Given the description of an element on the screen output the (x, y) to click on. 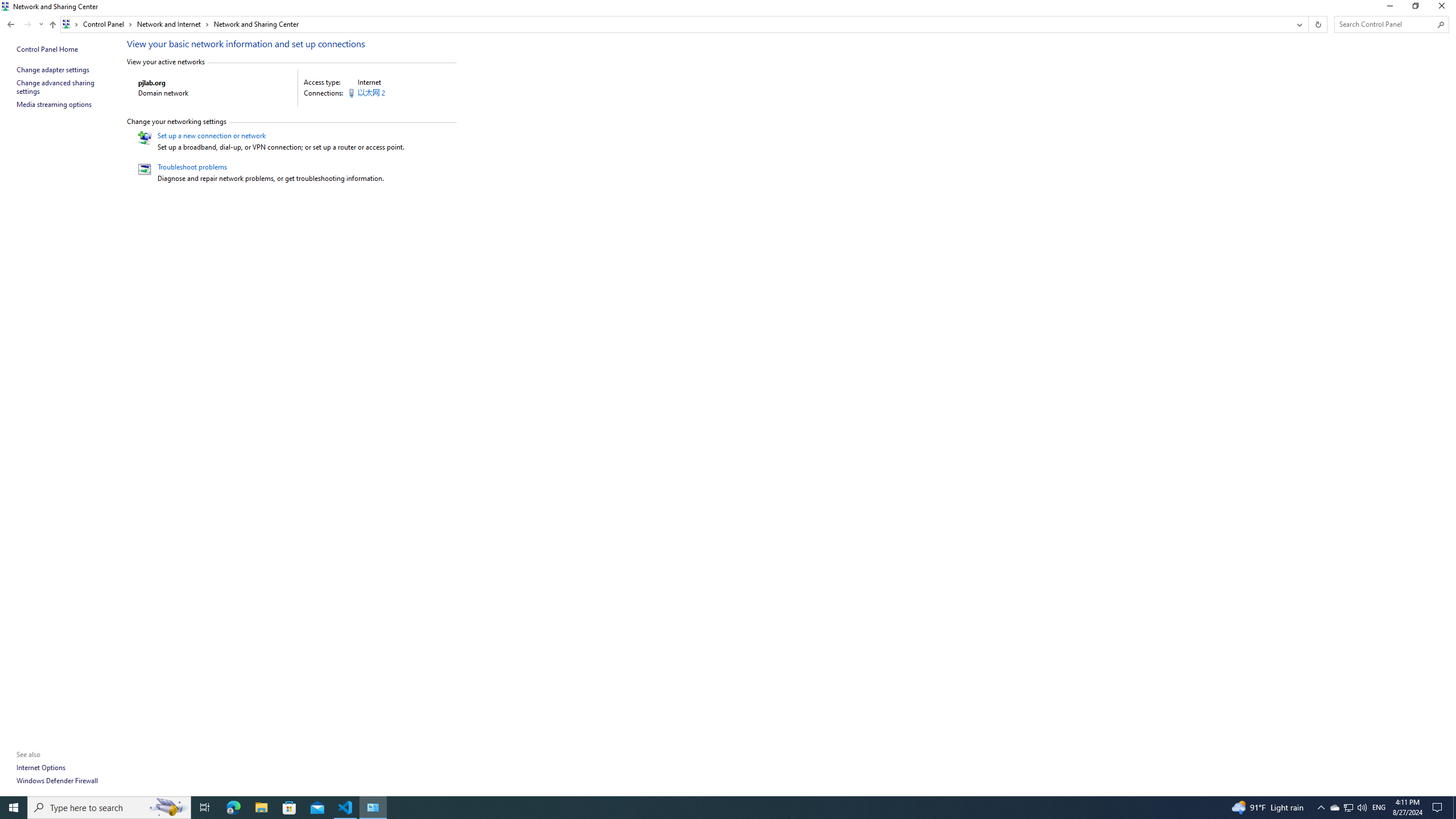
Control Panel Home (47, 49)
